Given the description of an element on the screen output the (x, y) to click on. 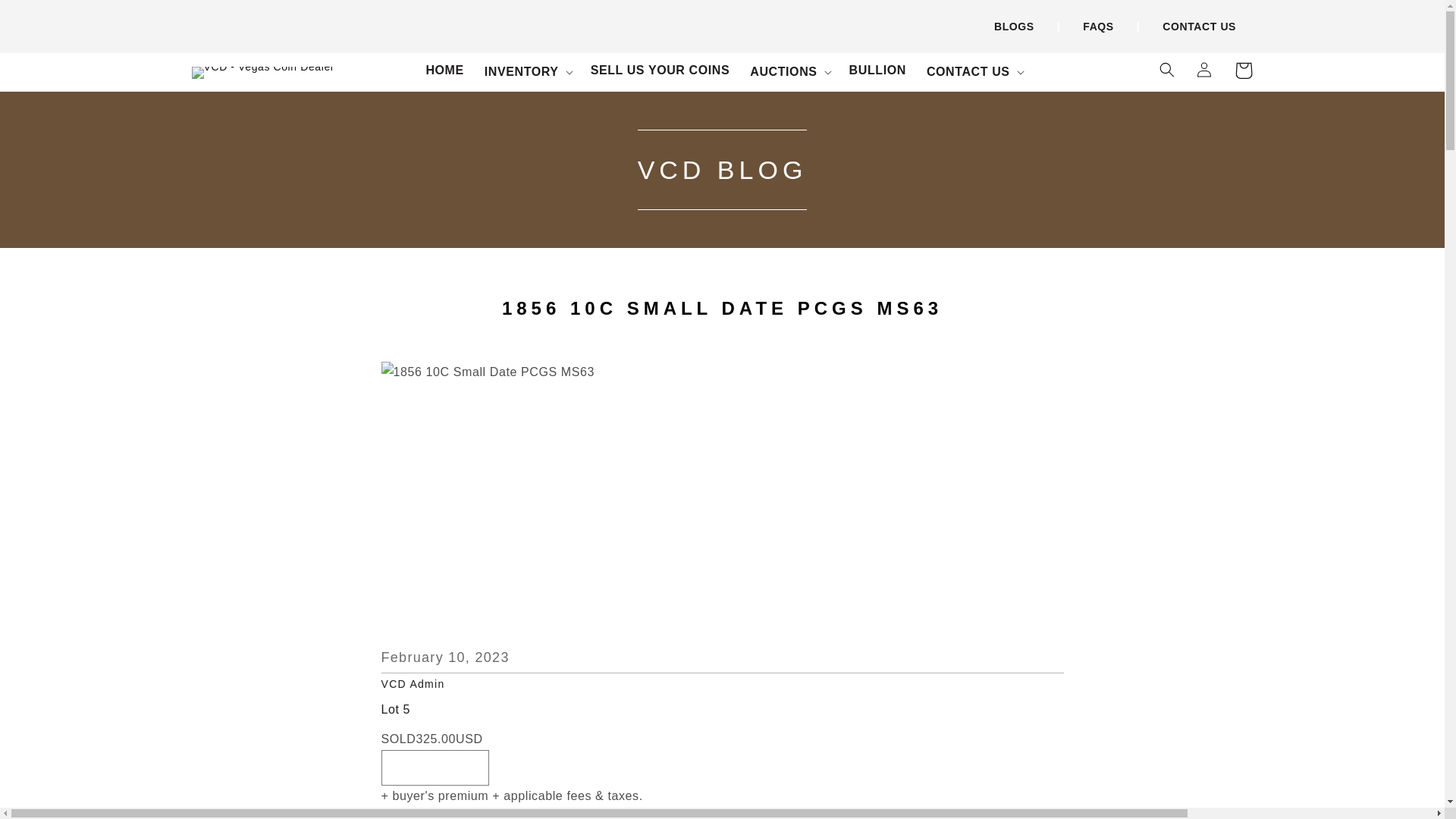
BULLION (877, 70)
SELL US YOUR COINS (660, 70)
CONTACT US (1198, 26)
BLOGS (1013, 26)
FAQS (1098, 26)
HOME (443, 70)
